Given the description of an element on the screen output the (x, y) to click on. 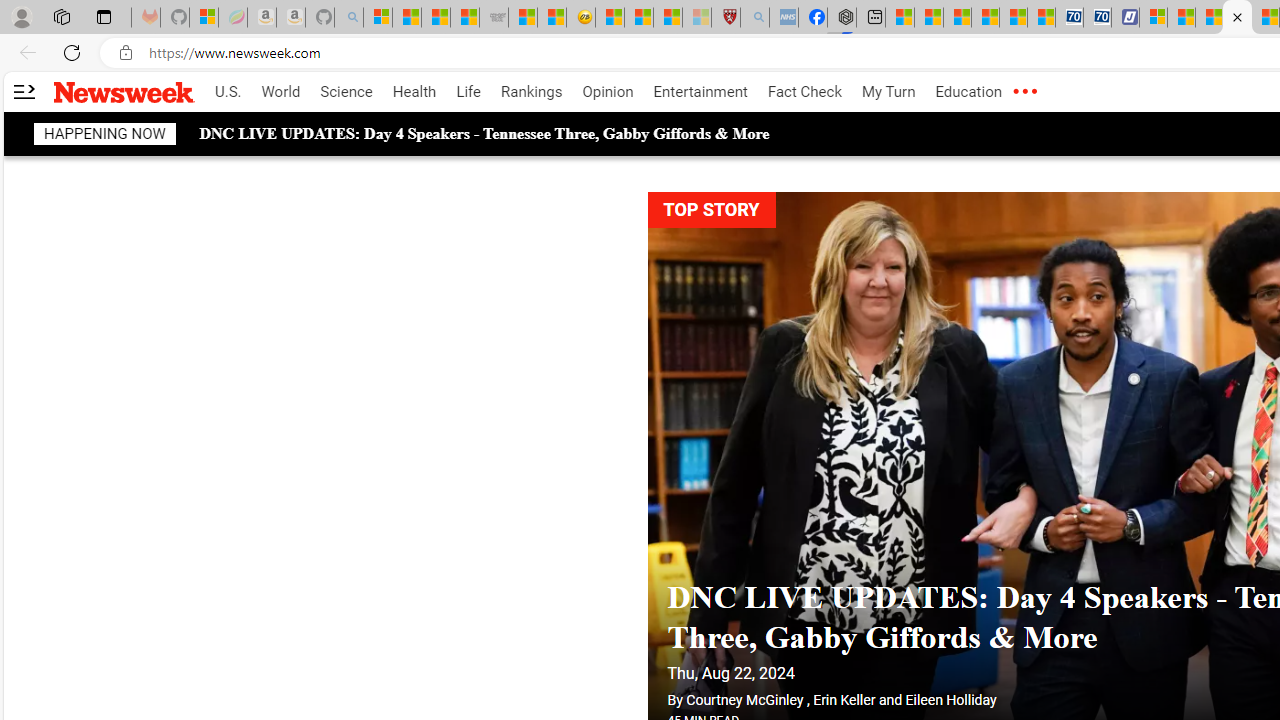
Education (968, 92)
My Turn (888, 92)
Health (413, 92)
Fact Check (804, 92)
Entertainment (699, 92)
Robert H. Shmerling, MD - Harvard Health (725, 17)
Cheap Car Rentals - Save70.com (1069, 17)
World (280, 92)
Newsweek logo (123, 91)
AutomationID: side-arrow (23, 92)
